Given the description of an element on the screen output the (x, y) to click on. 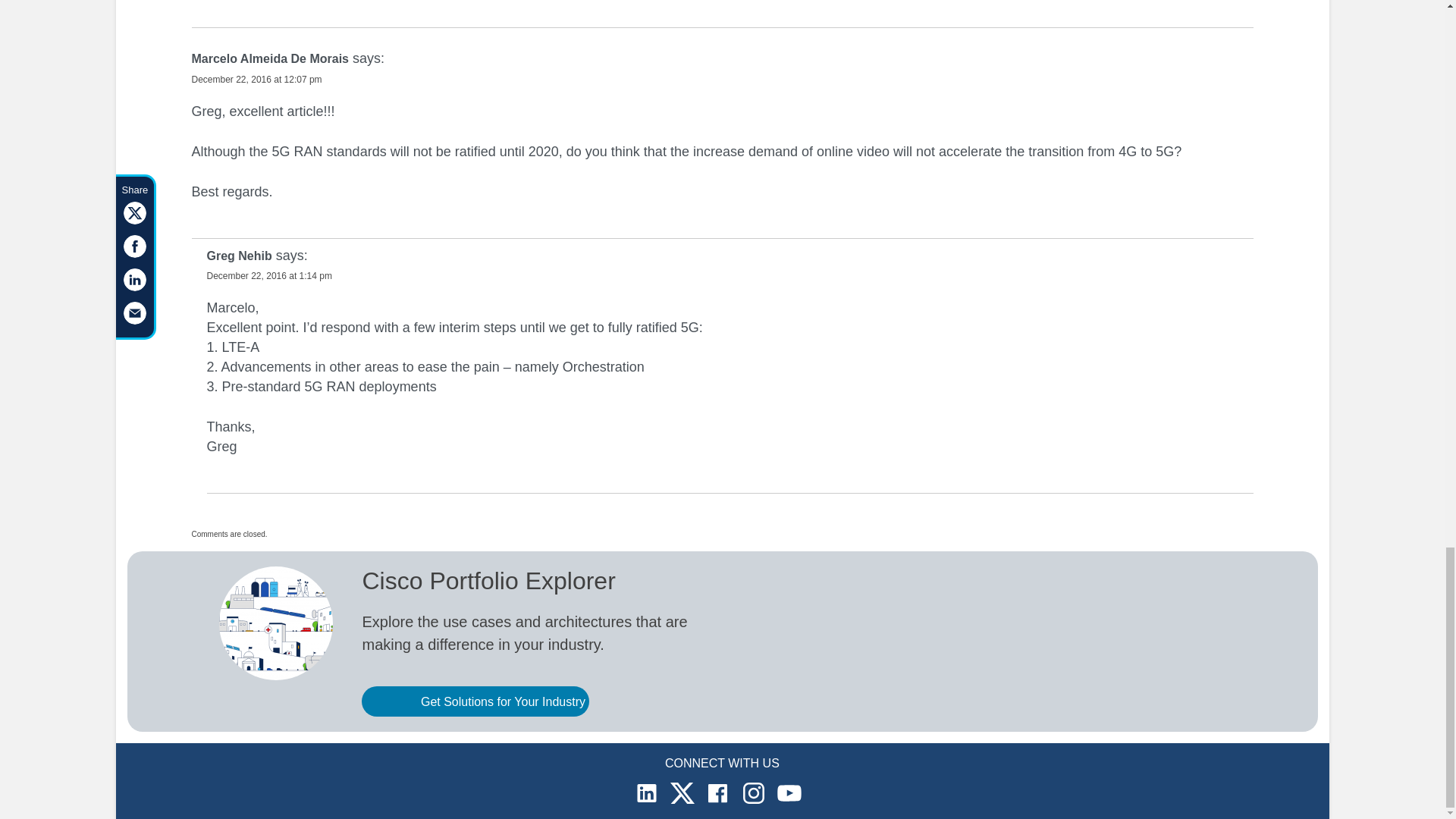
Get Solutions for Your Industry (475, 701)
December 22, 2016 at 1:14 pm (268, 276)
December 22, 2016 at 12:07 pm (255, 79)
